Given the description of an element on the screen output the (x, y) to click on. 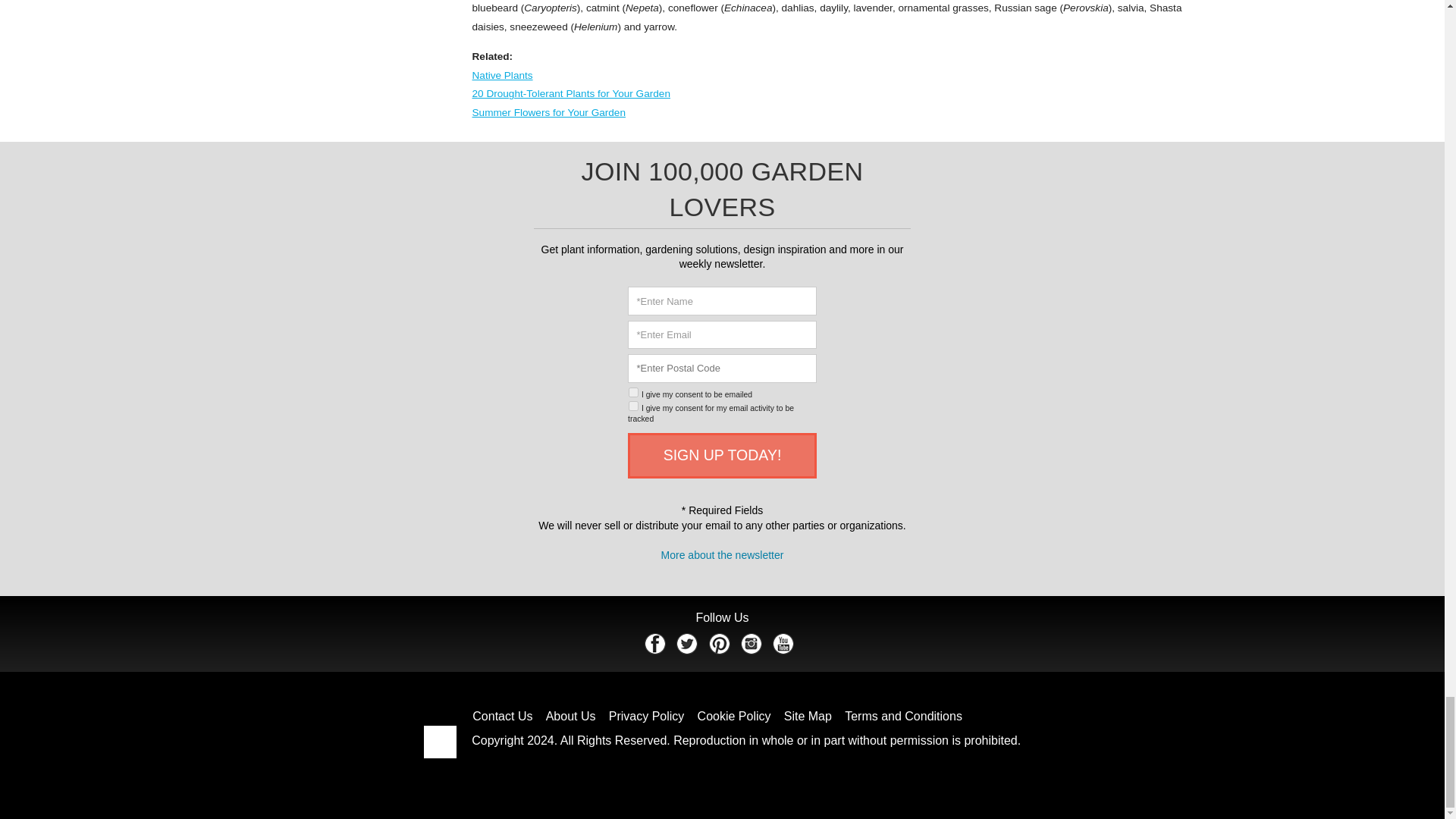
on (633, 406)
Sign Up Today! (721, 455)
on (633, 392)
